Given the description of an element on the screen output the (x, y) to click on. 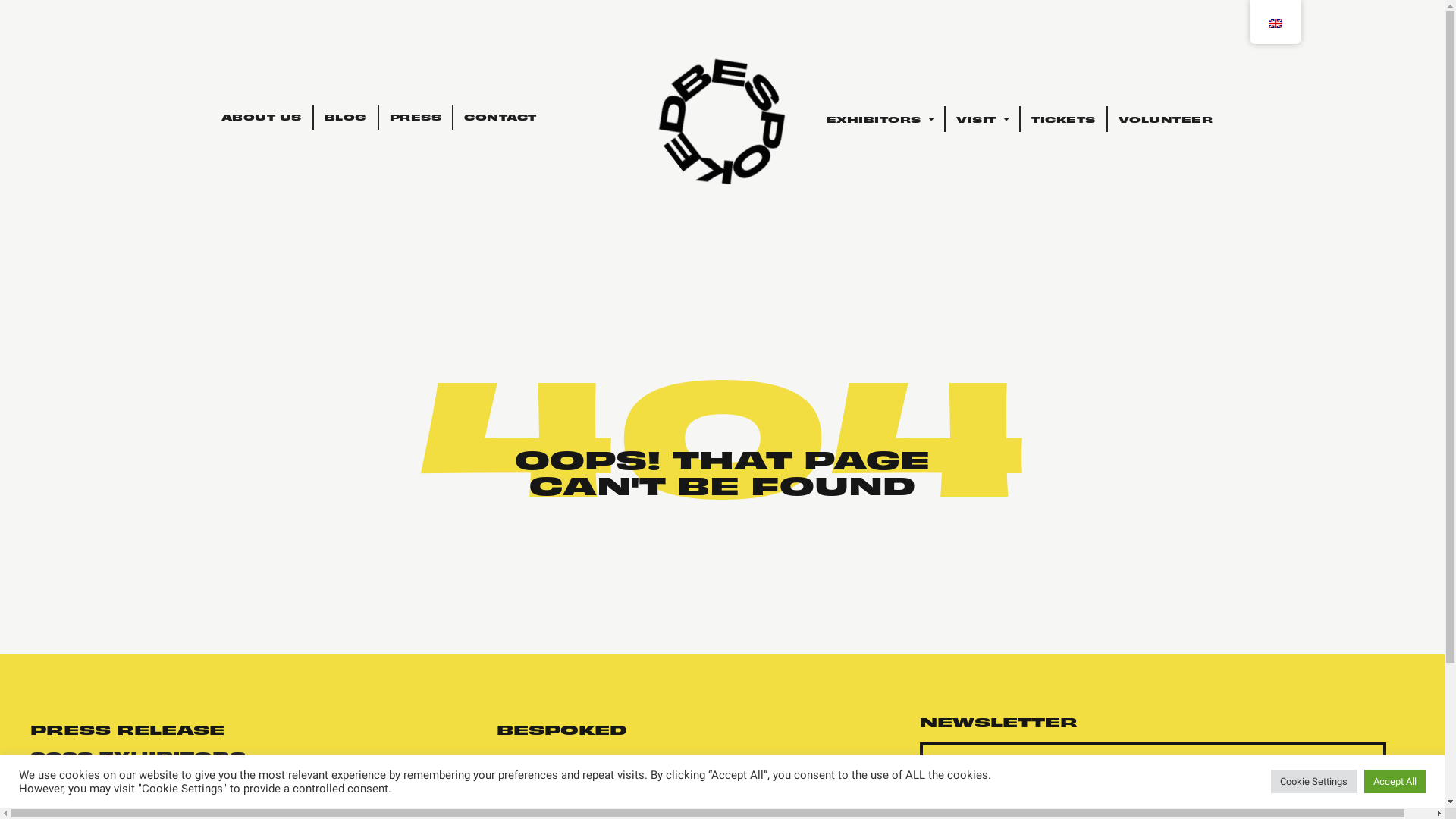
Accept All Element type: text (1394, 781)
2023 EXHIBITORS Element type: text (137, 754)
VISIT Element type: text (982, 118)
Cookie Settings Element type: text (1313, 781)
English Element type: hover (1274, 23)
SIGN UP Element type: text (1152, 796)
VOLUNTEER Element type: text (1165, 118)
CONTACT Element type: text (500, 117)
BLOG Element type: text (345, 117)
PRESS RELEASE Element type: text (127, 727)
EXHIBITORS Element type: text (880, 118)
ABOUT US Element type: text (261, 117)
TICKETS Element type: text (1063, 118)
PRESS Element type: text (415, 117)
